Given the description of an element on the screen output the (x, y) to click on. 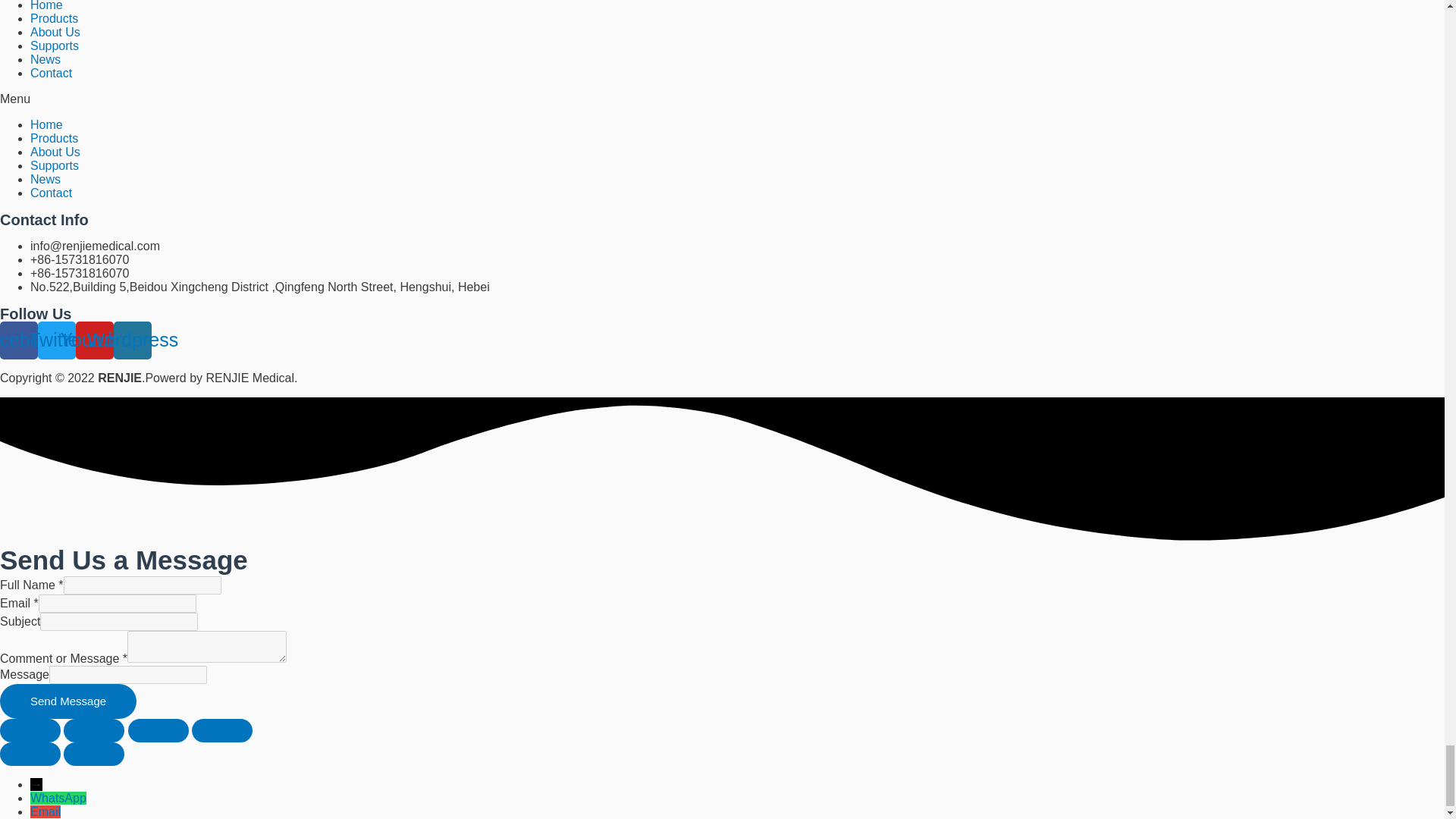
WhatsApp (57, 797)
